Given the description of an element on the screen output the (x, y) to click on. 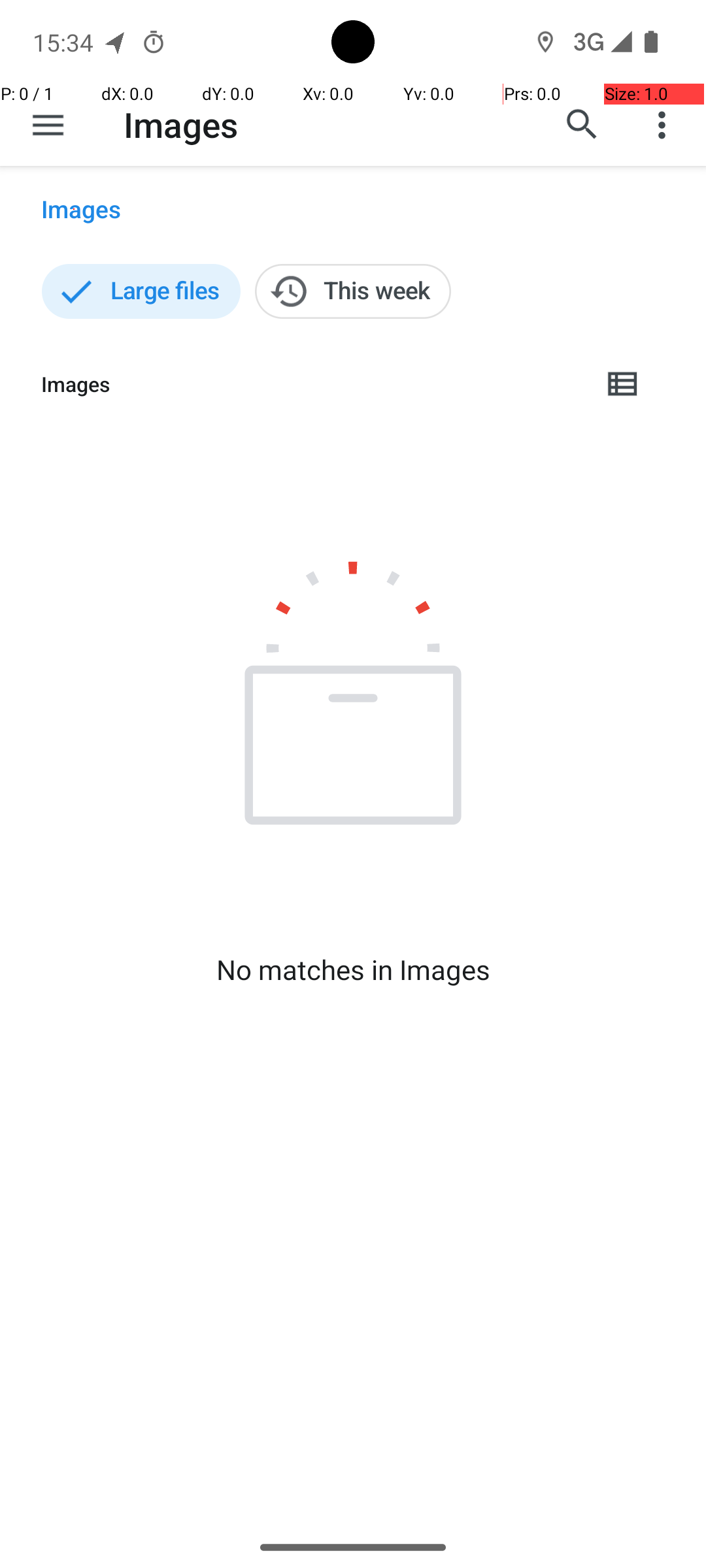
No matches in Images Element type: android.widget.TextView (352, 968)
